Given the description of an element on the screen output the (x, y) to click on. 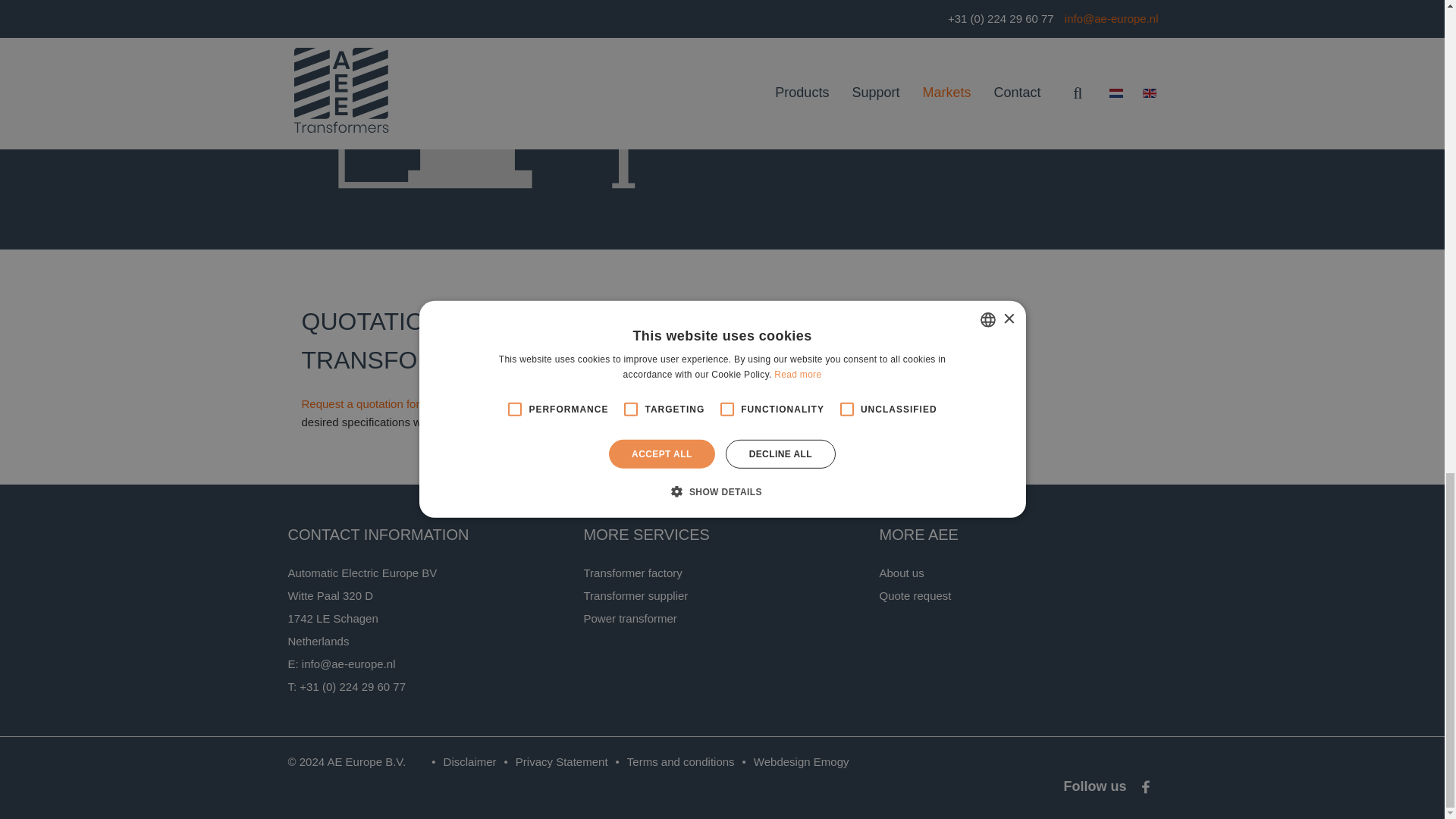
Privacy Statement (552, 761)
Quote request (914, 594)
Transformer factory (632, 572)
Quote request (892, 348)
Transformer supplier (635, 594)
Quote request (892, 335)
Terms and conditions (671, 761)
More about AEE (805, 173)
About us (901, 572)
Disclaimer (459, 761)
Webdesign Emogy (791, 761)
More about AEE (805, 160)
Power transformer (630, 617)
